Given the description of an element on the screen output the (x, y) to click on. 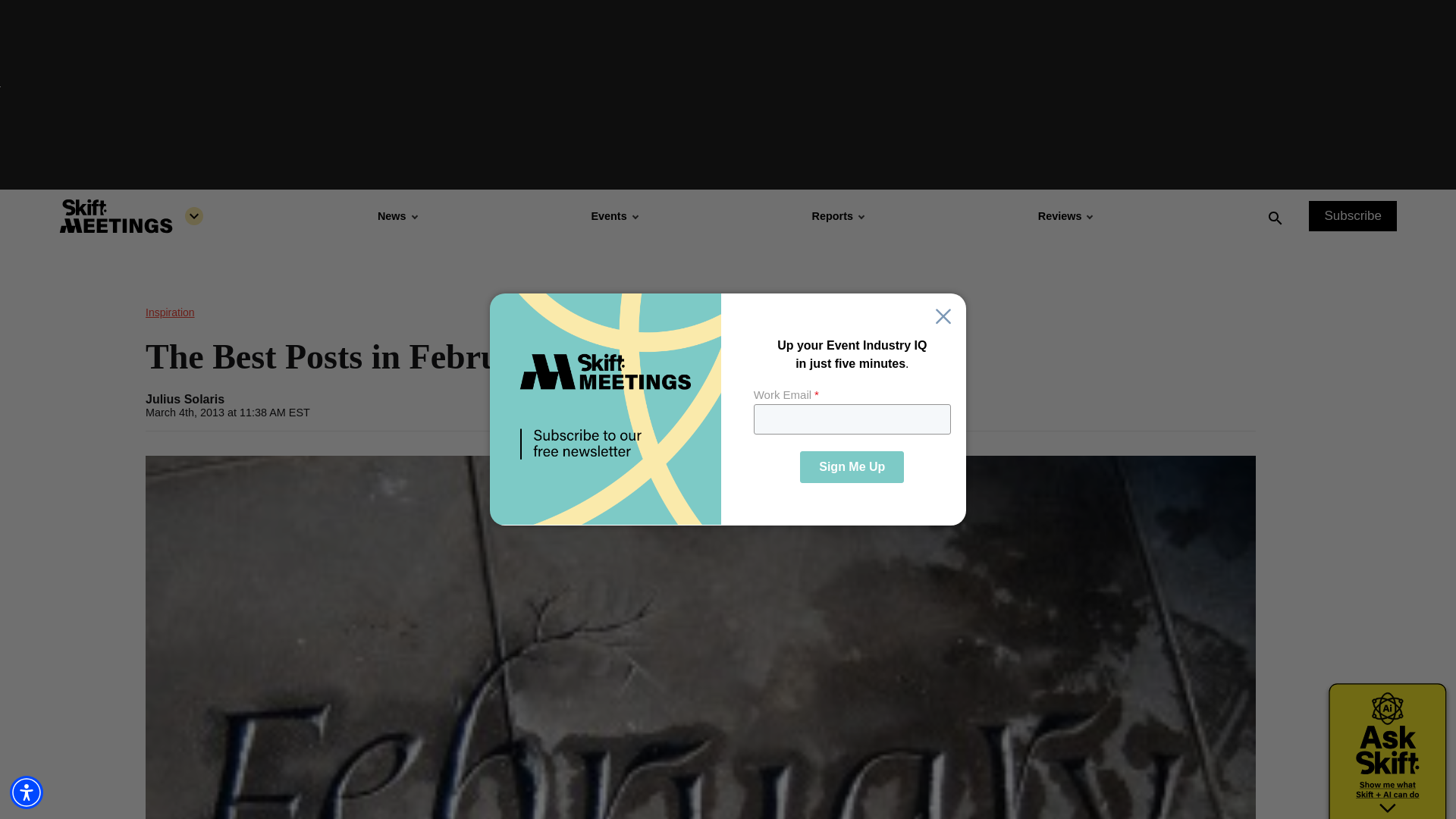
Subscribe (1352, 215)
Accessibility Menu (26, 792)
Popup CTA (727, 409)
Reviews (1065, 215)
Reports (837, 215)
